Given the description of an element on the screen output the (x, y) to click on. 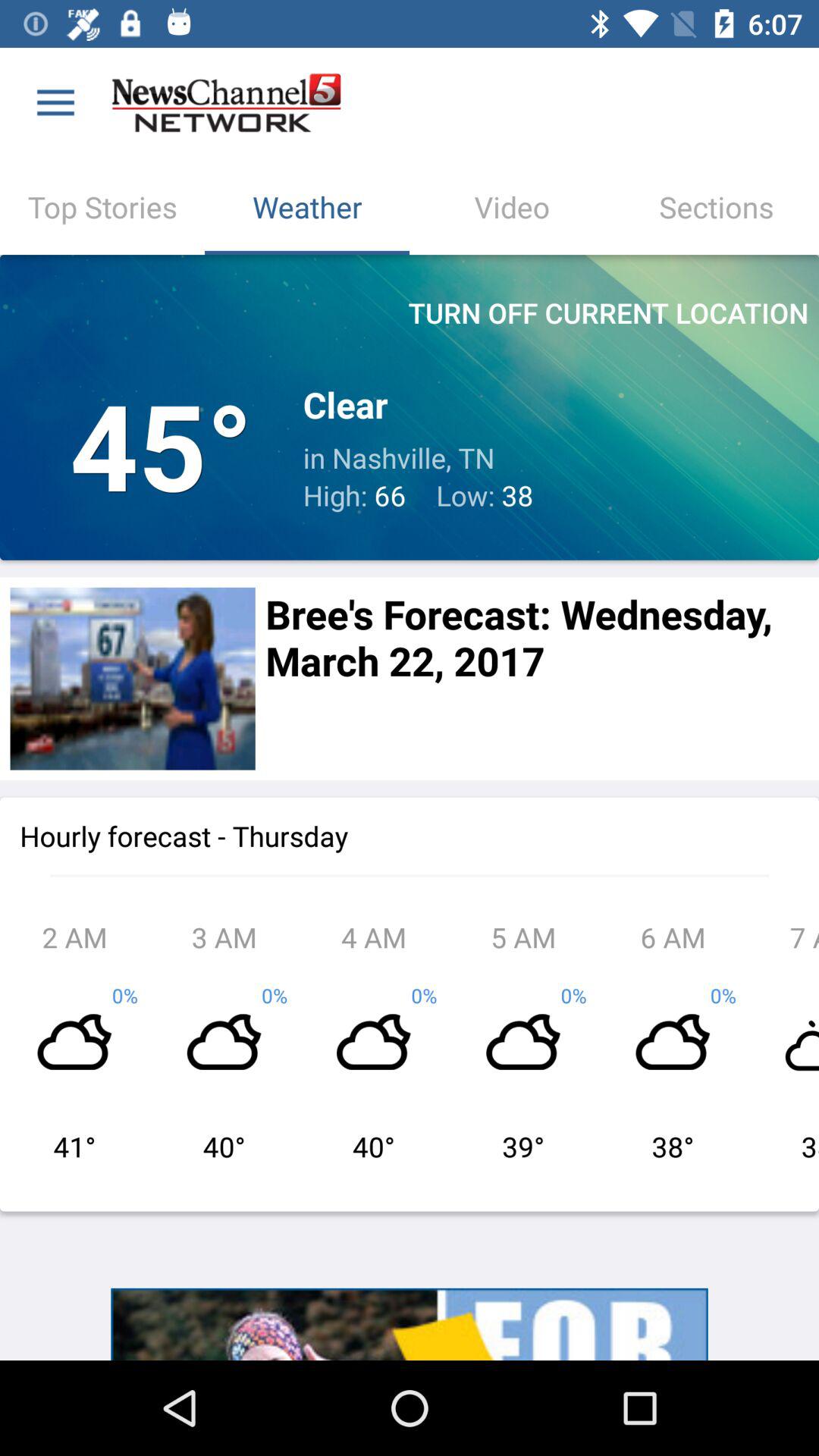
go to advertisement (409, 1324)
